Given the description of an element on the screen output the (x, y) to click on. 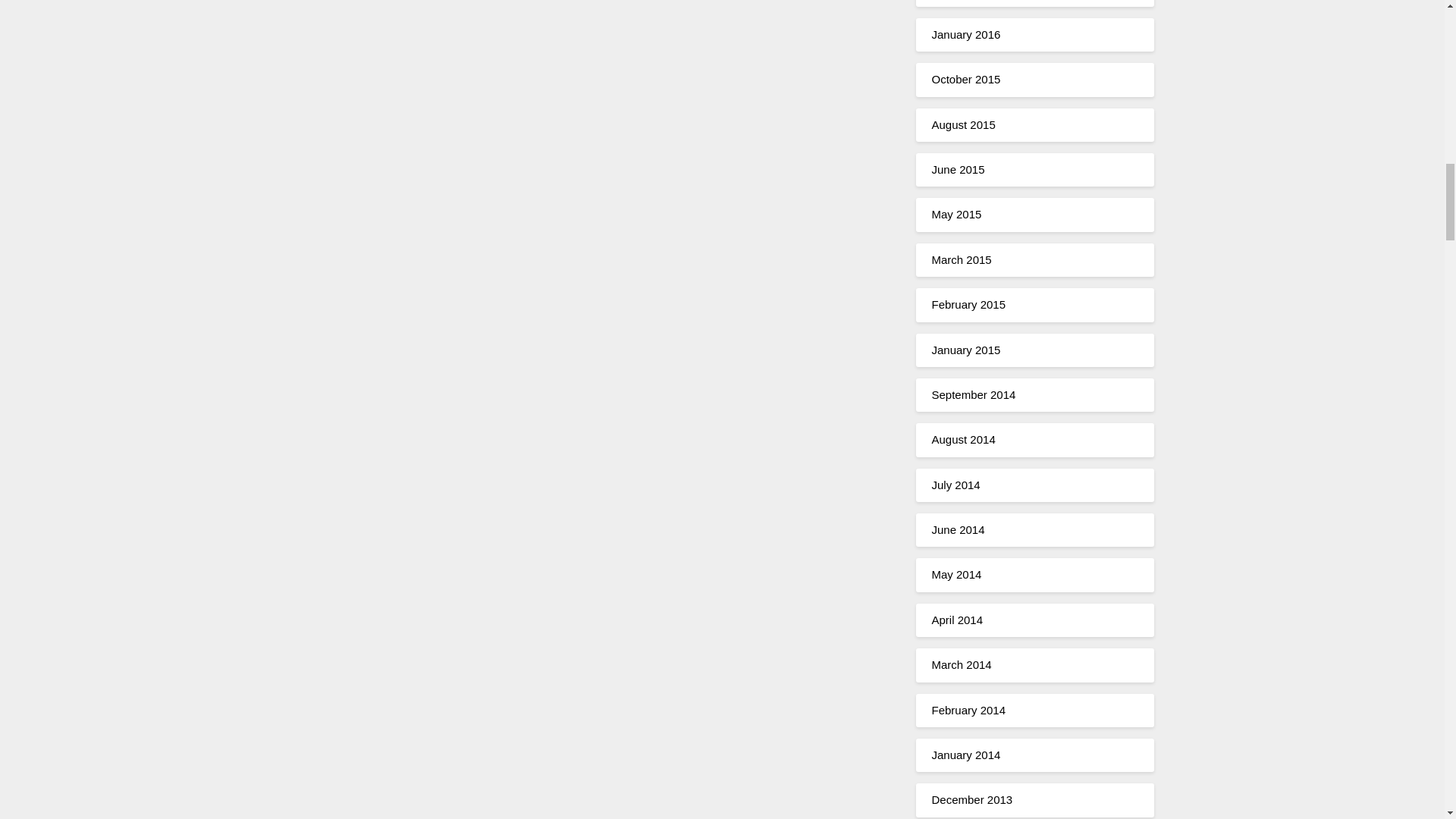
August 2015 (962, 124)
May 2015 (956, 214)
October 2015 (965, 78)
January 2015 (965, 349)
August 2014 (962, 439)
June 2015 (957, 169)
January 2016 (965, 33)
March 2015 (961, 259)
February 2015 (968, 304)
September 2014 (972, 394)
